Given the description of an element on the screen output the (x, y) to click on. 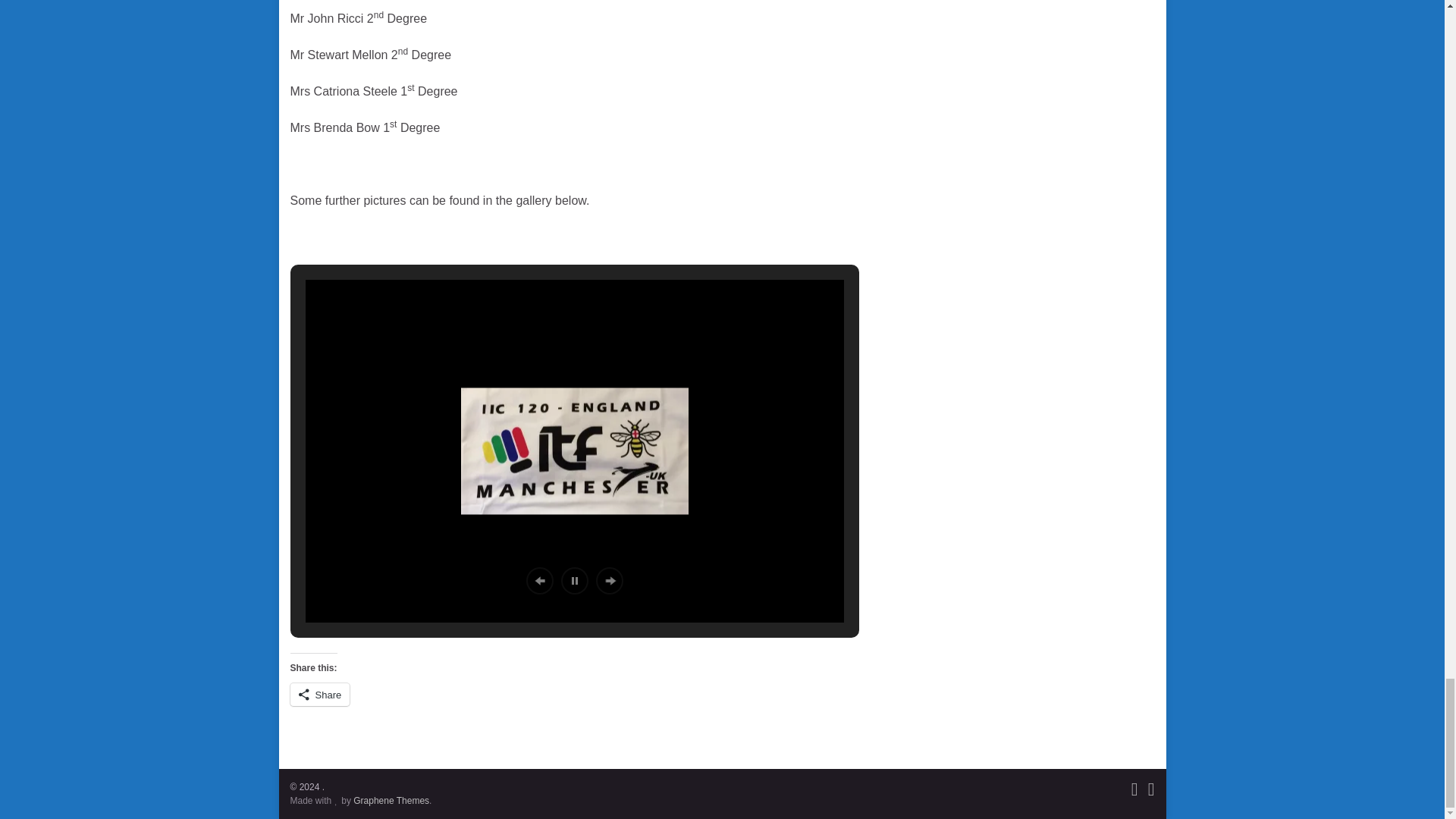
Share (319, 694)
